Given the description of an element on the screen output the (x, y) to click on. 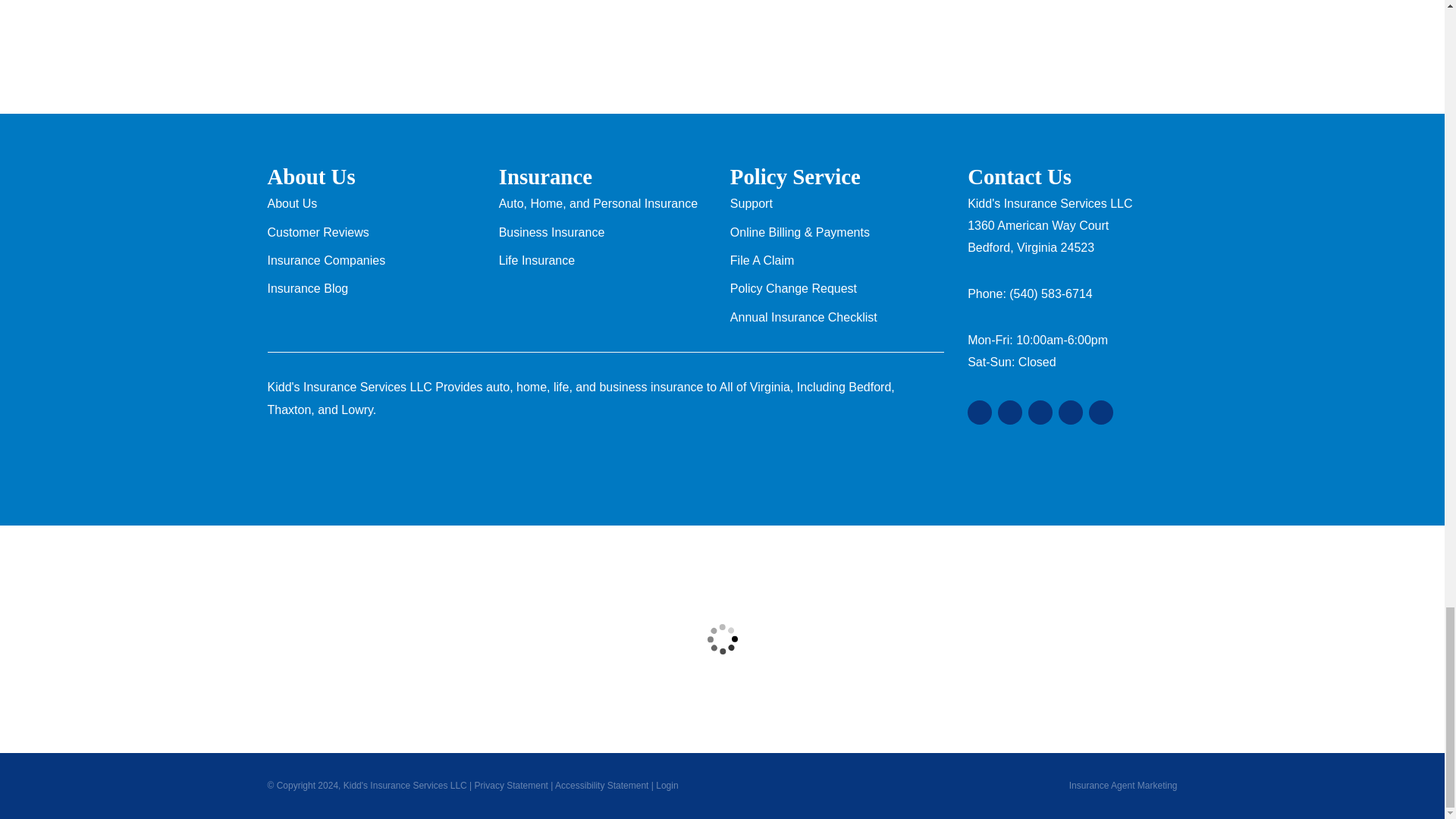
LinkedIn (1070, 412)
Instagram (1101, 412)
Facebook (1039, 412)
Google Maps (979, 412)
Yelp (1009, 412)
